Given the description of an element on the screen output the (x, y) to click on. 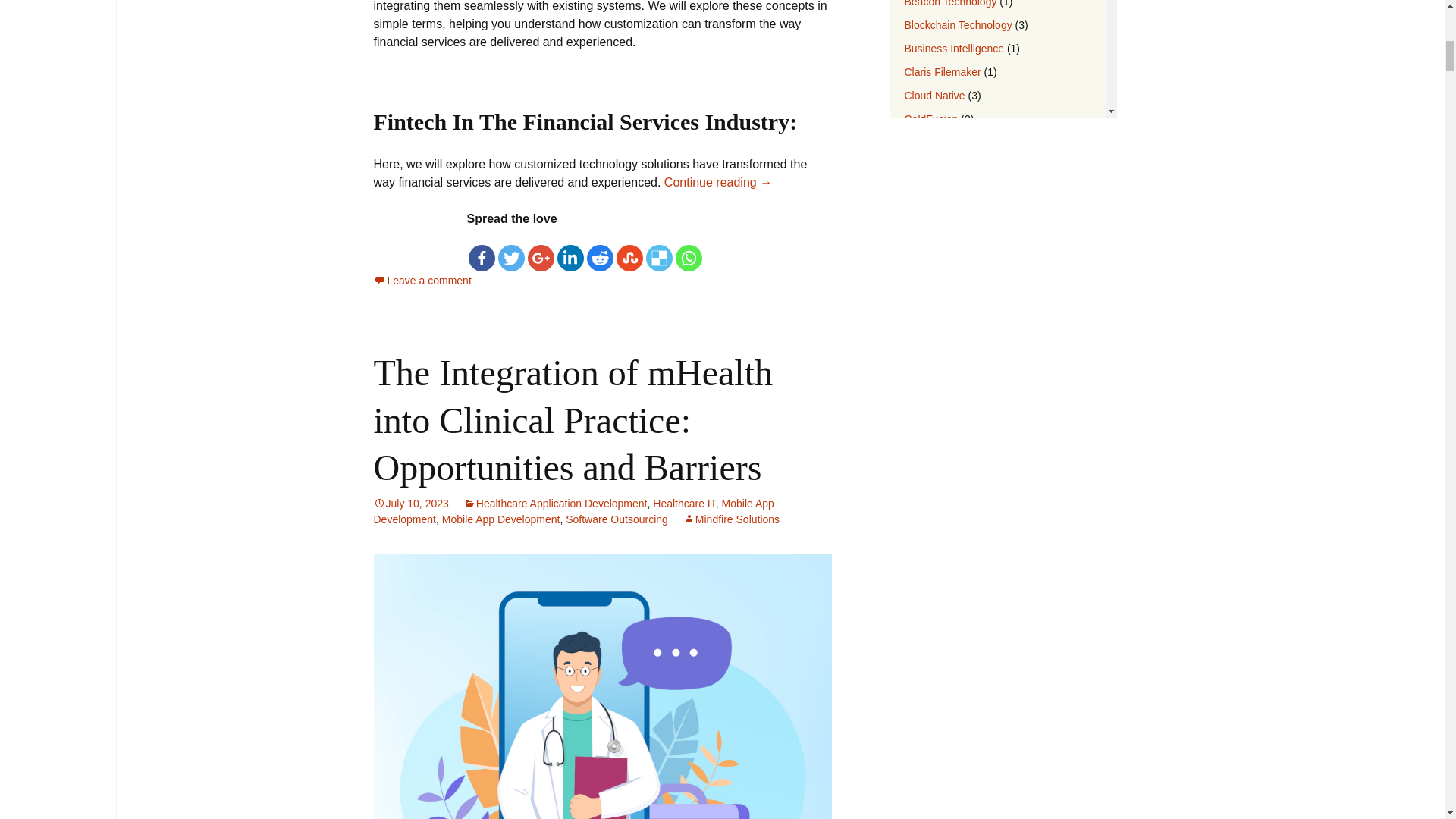
Delicious (659, 257)
Google plus (540, 257)
Mobile App Development (572, 511)
View all posts by Mindfire Solutions (730, 519)
Mindfire Solutions (730, 519)
Whatsapp (688, 257)
Healthcare Application Development (555, 503)
Mobile App Development (501, 519)
